Given the description of an element on the screen output the (x, y) to click on. 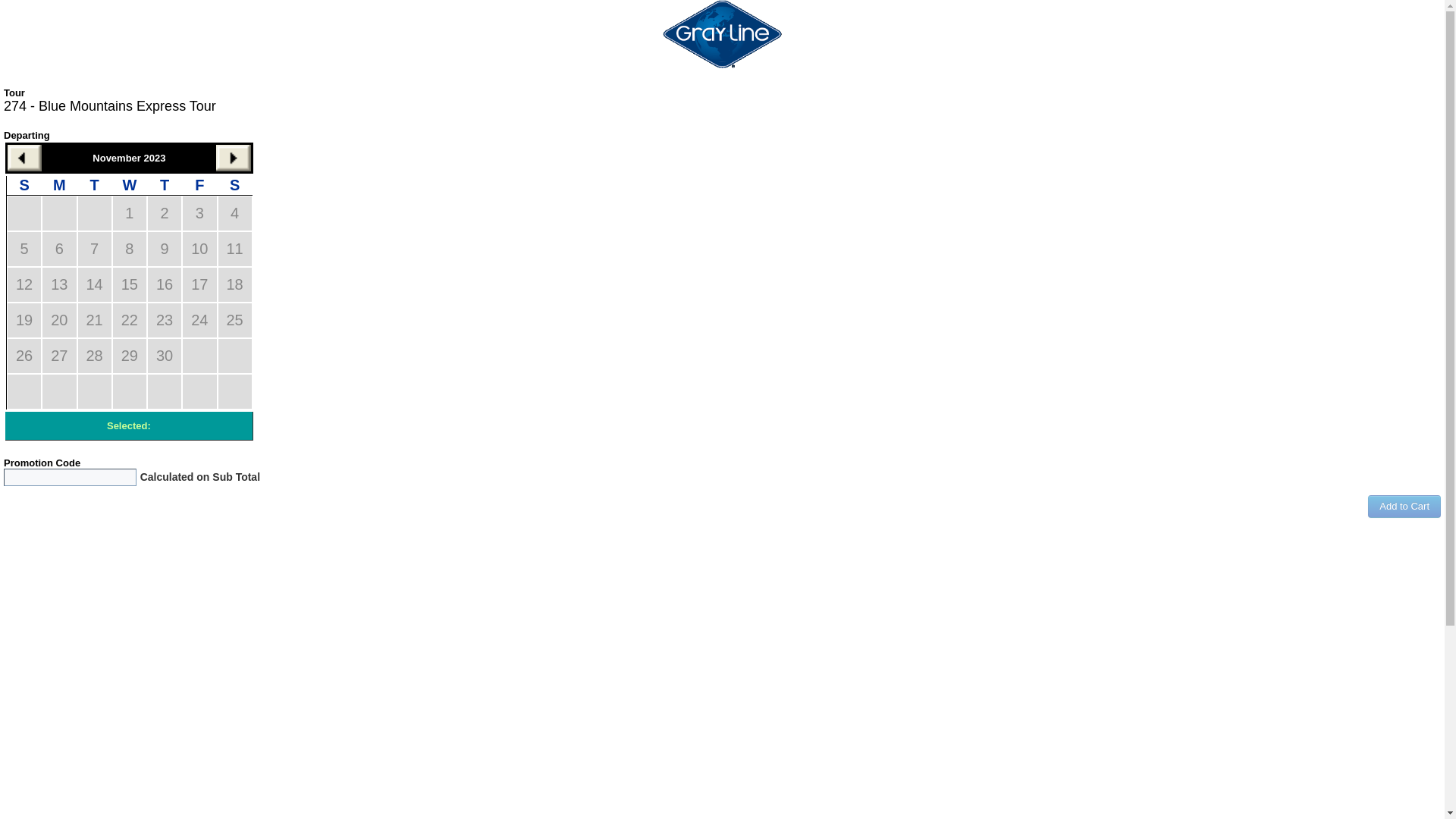
Add to Cart Element type: text (1404, 506)
